Given the description of an element on the screen output the (x, y) to click on. 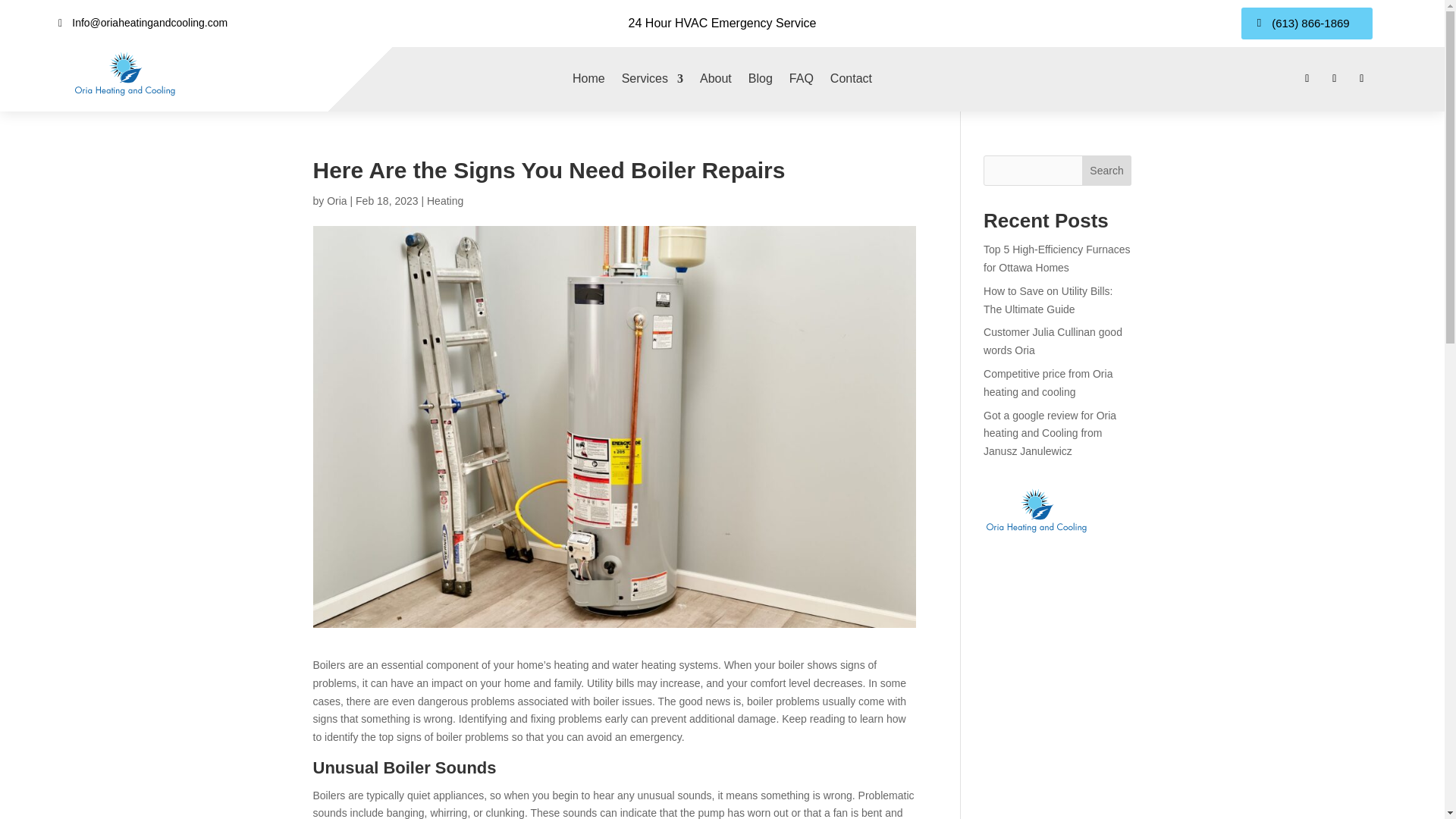
Follow on Google (1334, 78)
Follow on Instagram (1362, 78)
Posts by Oria (336, 200)
Follow on Facebook (1307, 78)
Services (651, 78)
